Given the description of an element on the screen output the (x, y) to click on. 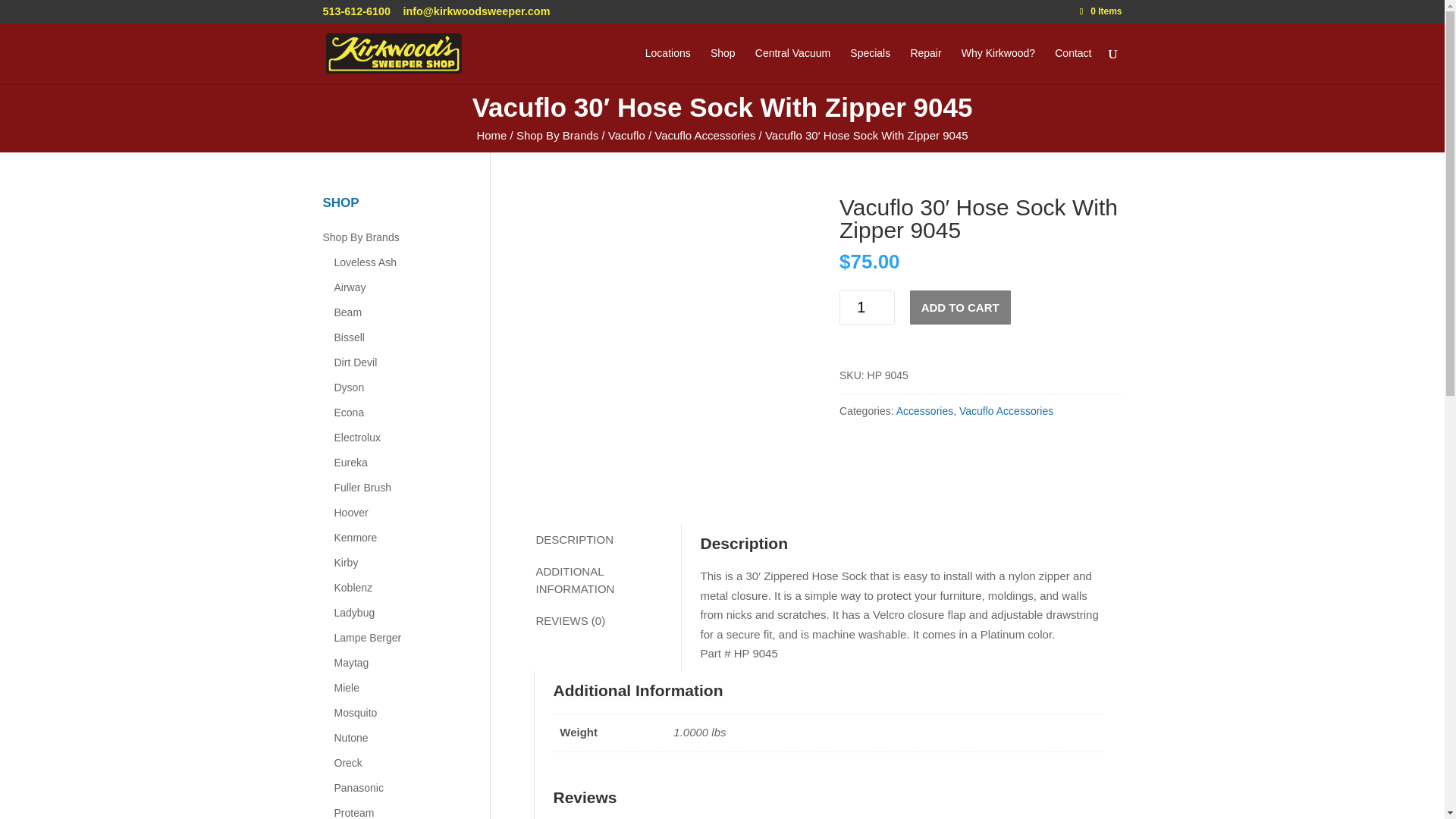
ADDITIONAL INFORMATION (607, 580)
Electrolux (399, 437)
Specials (869, 65)
Loveless Ash (399, 262)
Shop By Brands (557, 134)
Bissell (399, 337)
Why Kirkwood? (997, 65)
Home (491, 134)
513-612-6100 (357, 10)
Airway (399, 287)
Vacuflo (626, 134)
0 Items (1101, 10)
Dyson (399, 387)
Vacuflo Accessories (704, 134)
Contact (1072, 65)
